Given the description of an element on the screen output the (x, y) to click on. 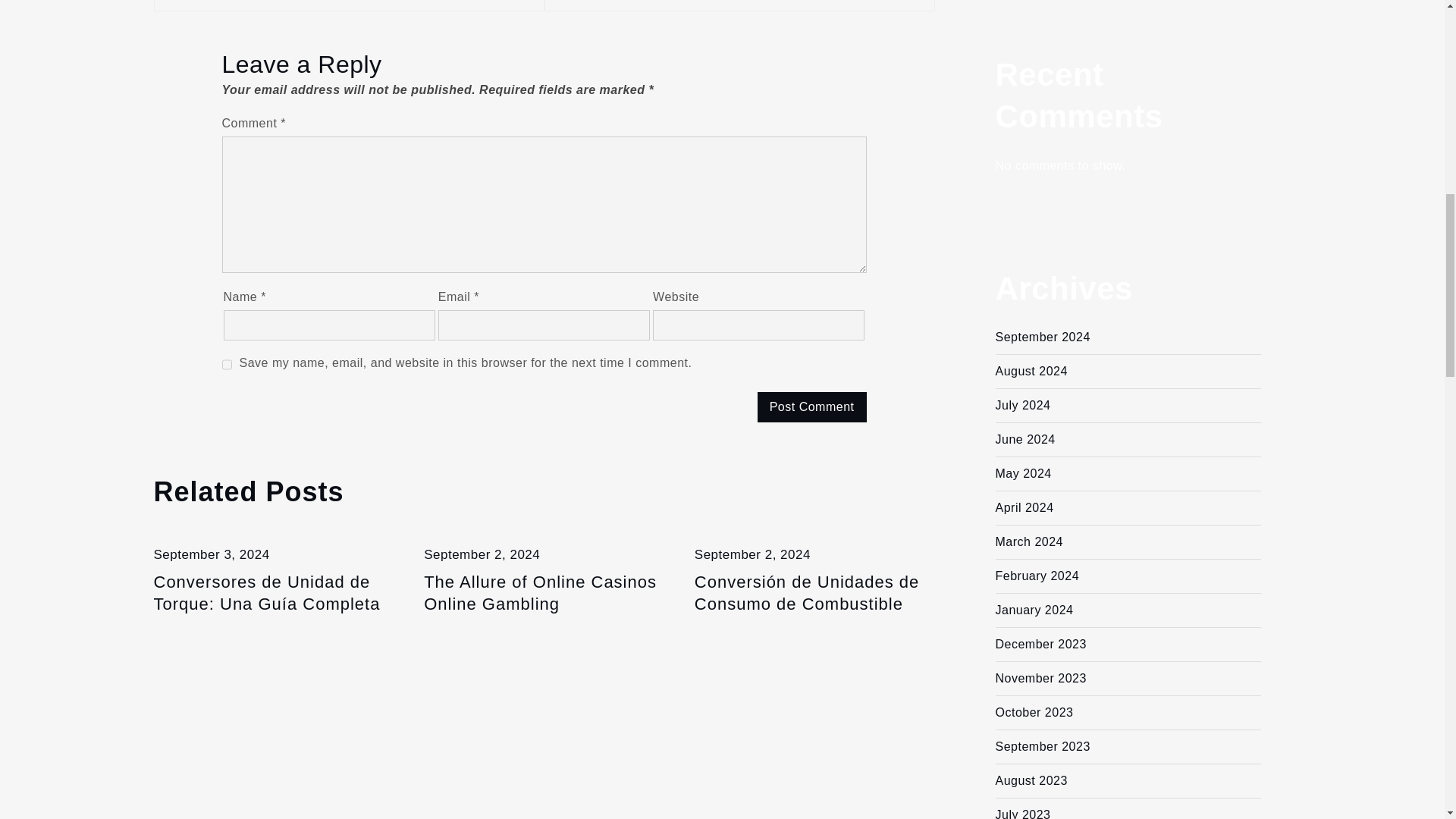
The Allure of Online Casinos Online Gambling (543, 593)
September 2, 2024 (752, 554)
April 2024 (1023, 507)
September 3, 2024 (210, 554)
September 2024 (1041, 336)
Post Comment (811, 407)
July 2024 (1021, 404)
May 2024 (1022, 472)
June 2024 (1024, 439)
September 2, 2024 (481, 554)
